Given the description of an element on the screen output the (x, y) to click on. 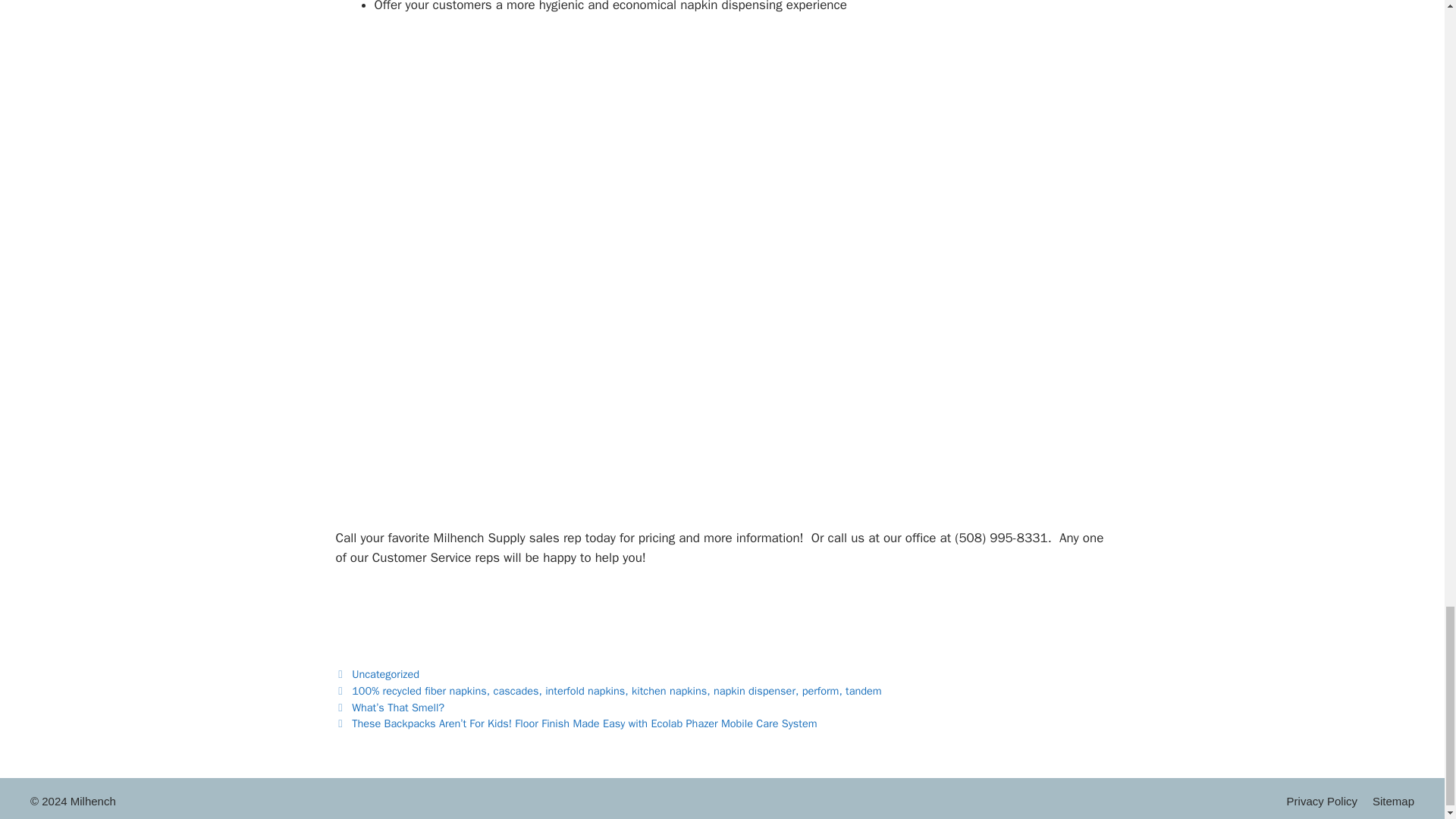
perform (821, 690)
interfold napkins (584, 690)
napkin dispenser (753, 690)
Uncategorized (385, 673)
kitchen napkins (668, 690)
cascades (515, 690)
tandem (863, 690)
